Given the description of an element on the screen output the (x, y) to click on. 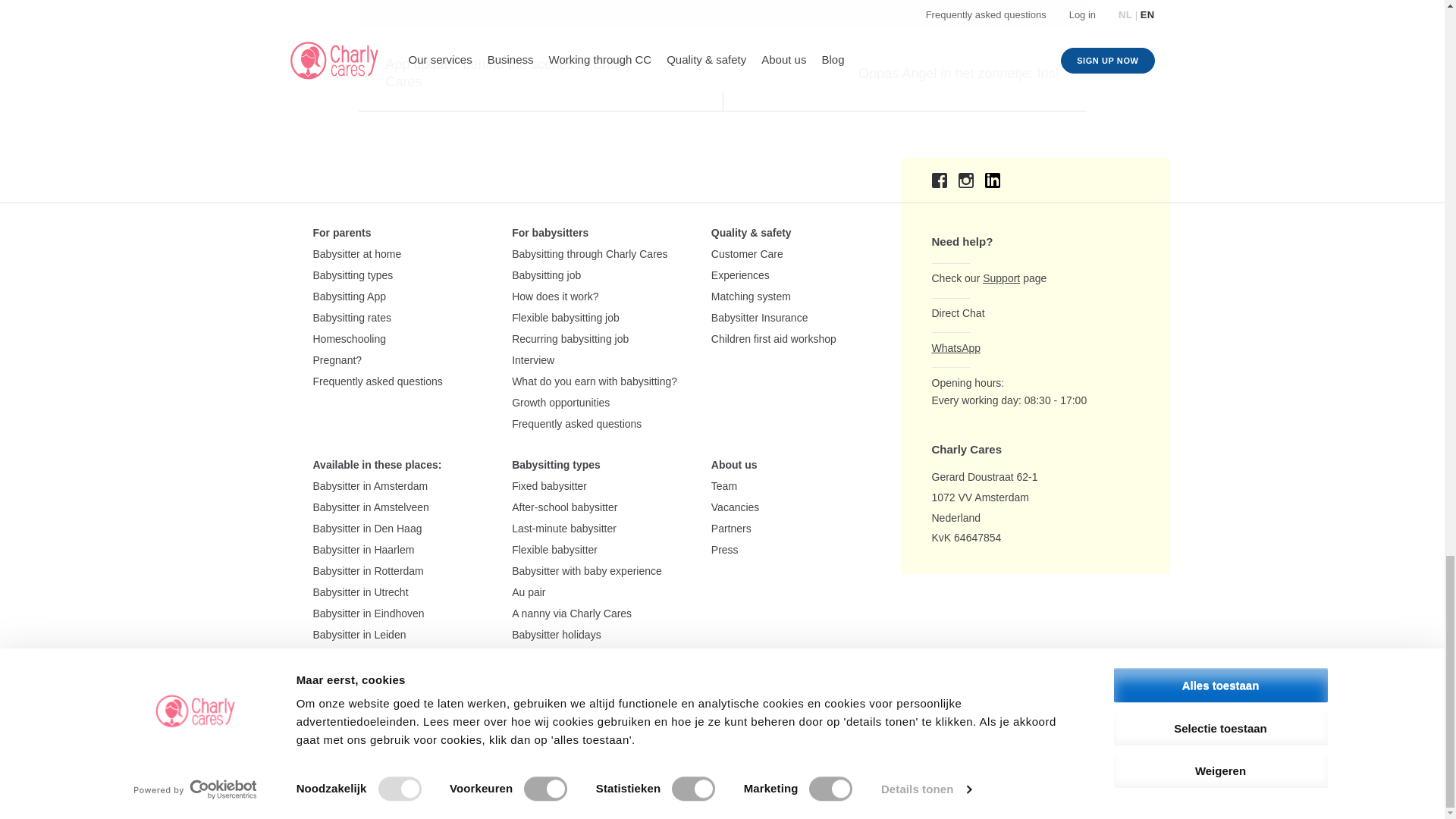
For parents (342, 233)
